Given the description of an element on the screen output the (x, y) to click on. 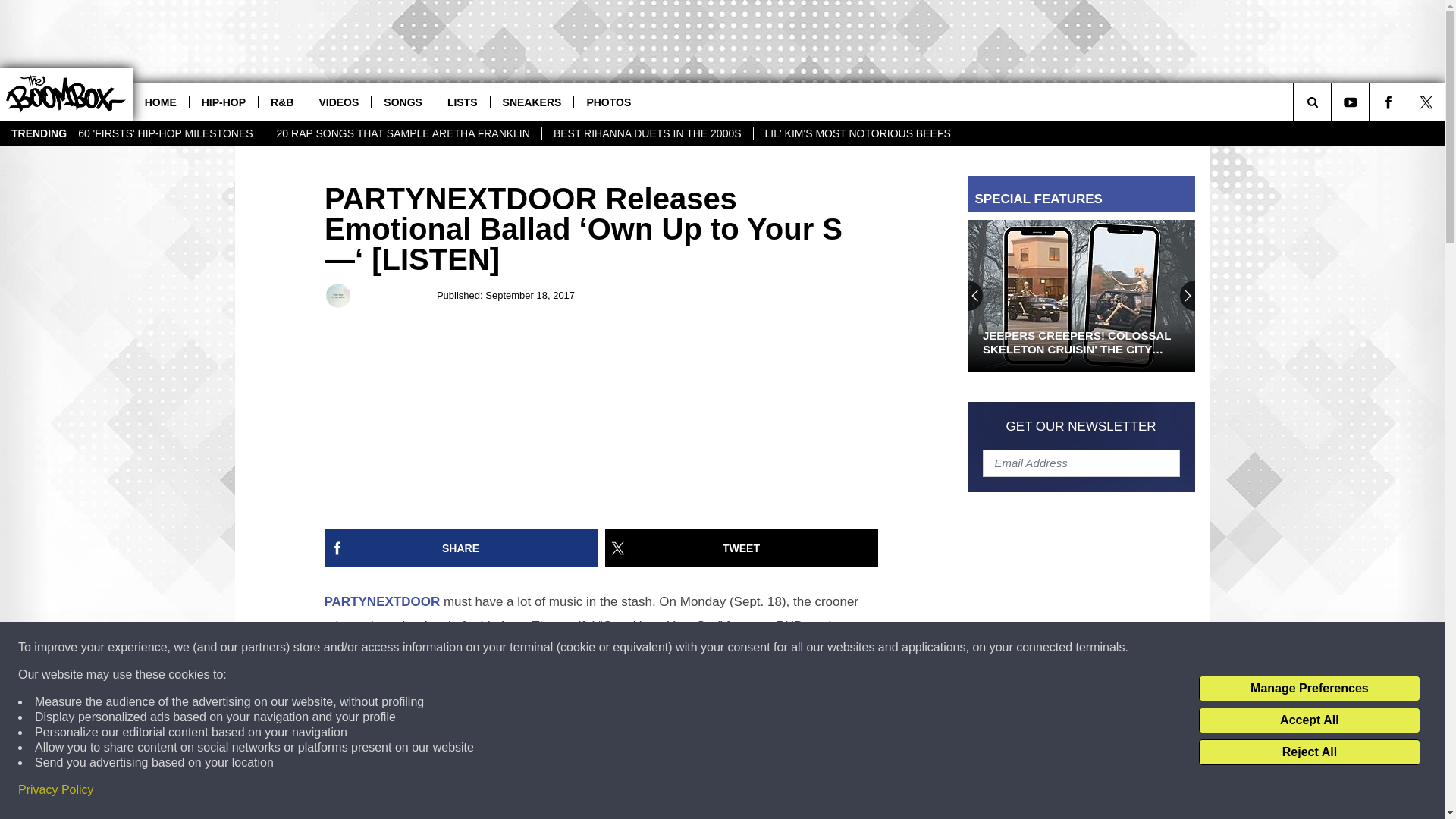
Trent Fitzgerald (338, 295)
Manage Preferences (1309, 688)
Email Address (1080, 461)
20 RAP SONGS THAT SAMPLE ARETHA FRANKLIN (402, 133)
TWEET (741, 548)
her bedside following her suicide attempt last year (537, 816)
SEARCH (1333, 102)
Visit us on Facebook (1388, 102)
BEST RIHANNA DUETS IN THE 2000S (646, 133)
Privacy Policy (55, 789)
SHARE (460, 548)
PHOTOS (608, 102)
HOME (160, 102)
SHARE (460, 548)
Visit us on Youtube (1350, 102)
